Given the description of an element on the screen output the (x, y) to click on. 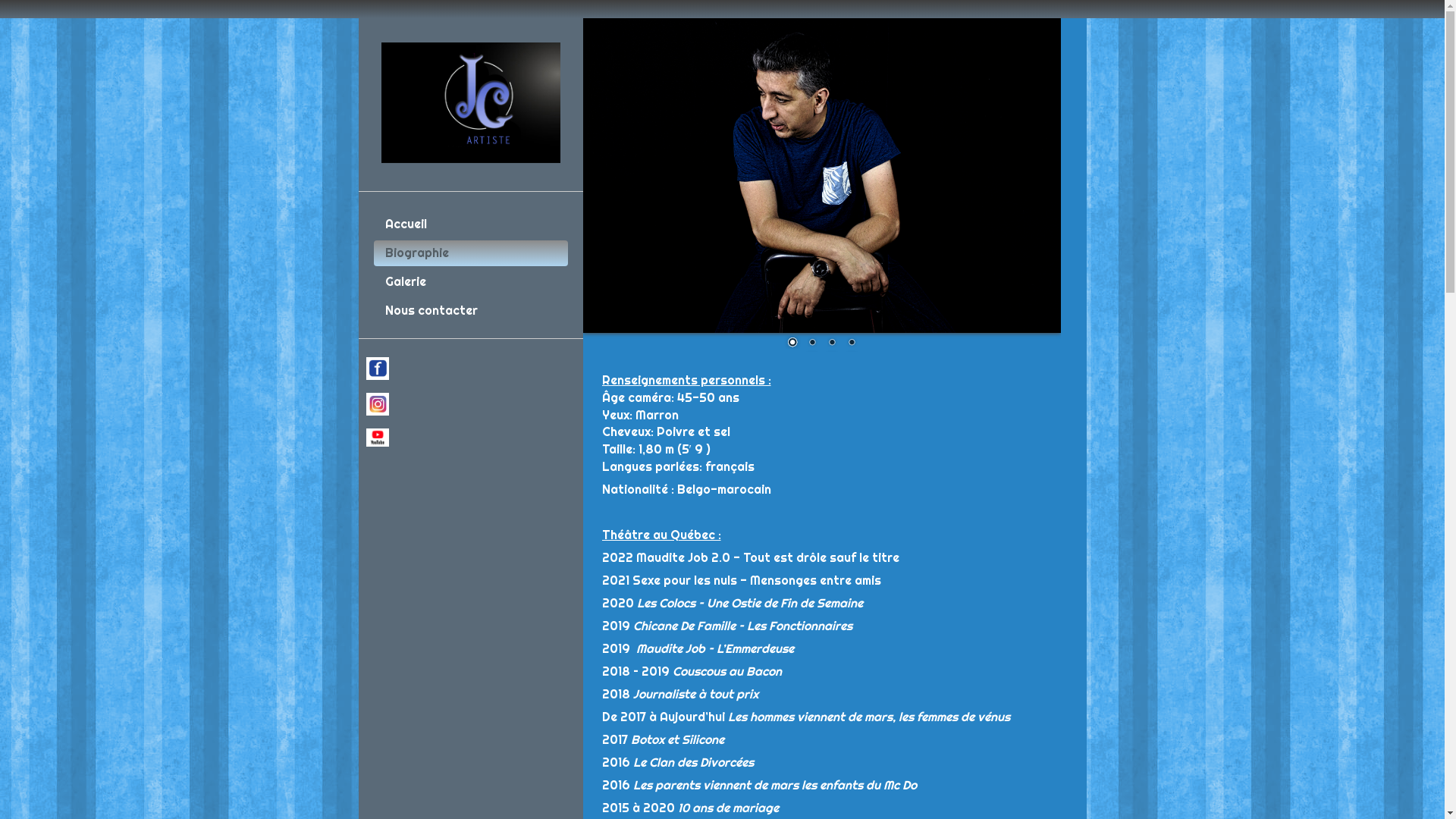
Biographie Element type: text (470, 253)
1 Element type: text (792, 343)
Accueil Element type: text (470, 224)
Nous contacter Element type: text (470, 310)
4 Element type: text (851, 343)
3 Element type: text (831, 343)
2 Element type: text (811, 343)
Galerie Element type: text (470, 281)
